Given the description of an element on the screen output the (x, y) to click on. 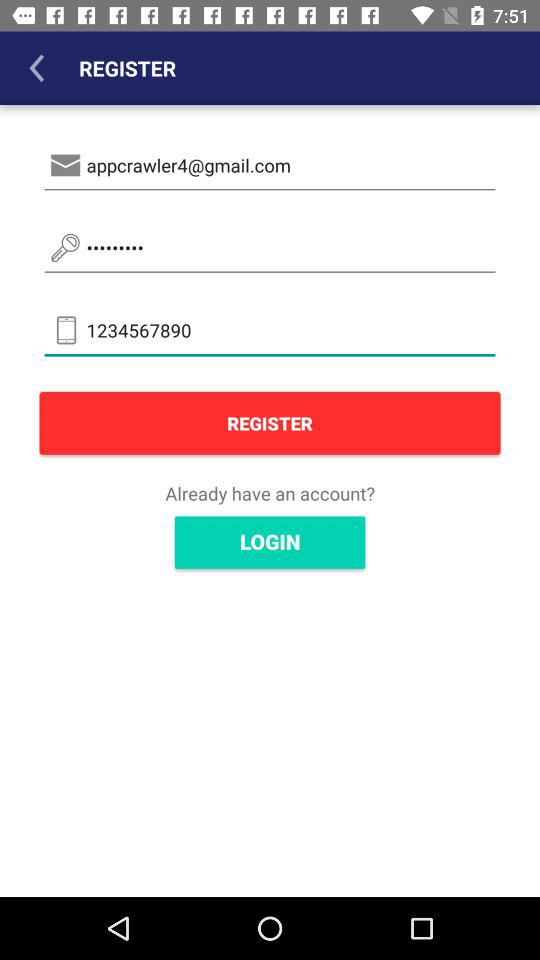
choose item below appcrawler4@gmail.com icon (269, 248)
